Given the description of an element on the screen output the (x, y) to click on. 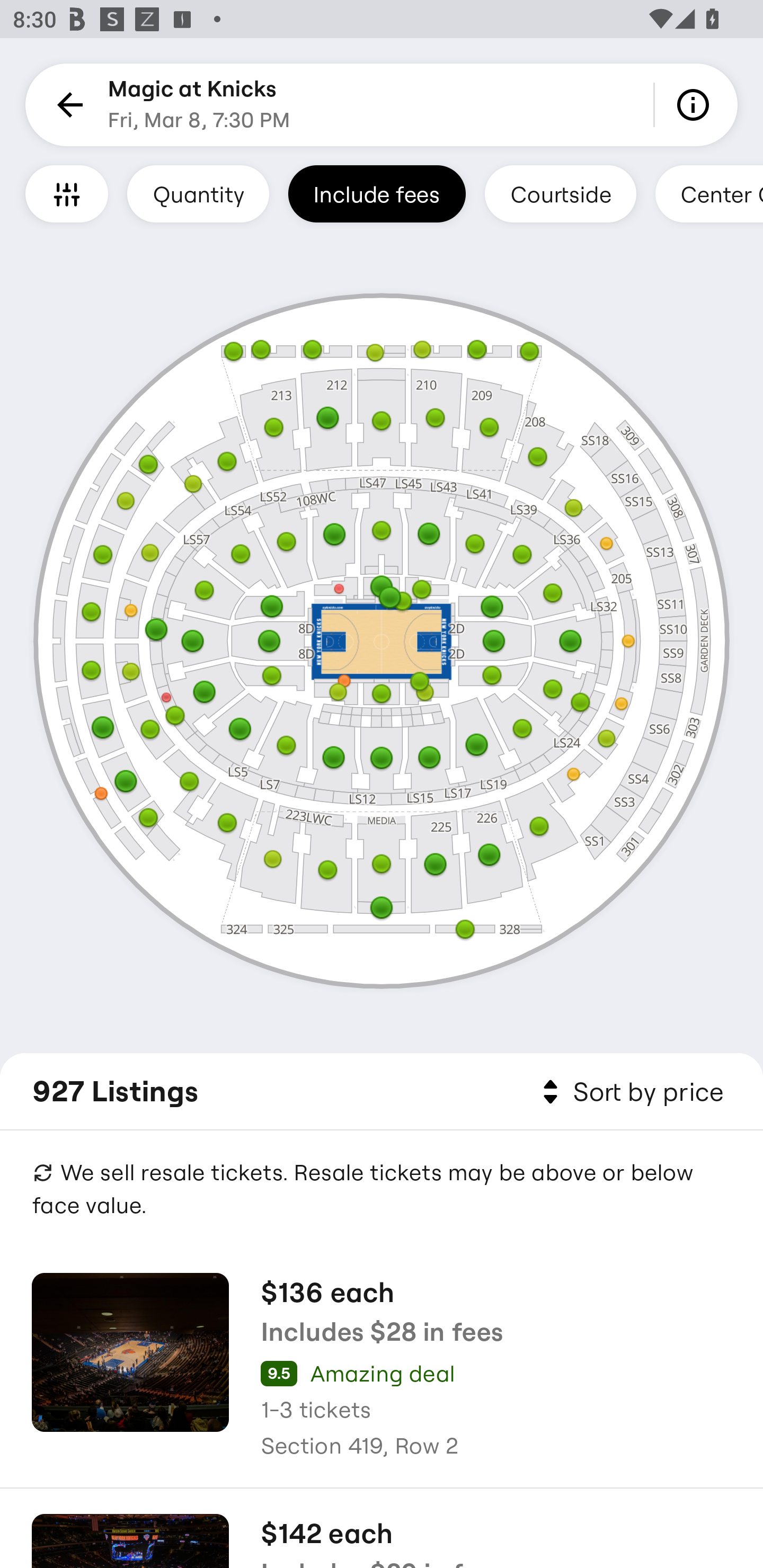
Back (66, 104)
Magic at Knicks Fri, Mar 8, 7:30 PM (198, 104)
Info (695, 104)
Filters and Accessible Seating (66, 193)
Quantity (198, 193)
Include fees (376, 193)
Courtside (560, 193)
Center Court (709, 193)
Sort by price (629, 1091)
